Given the description of an element on the screen output the (x, y) to click on. 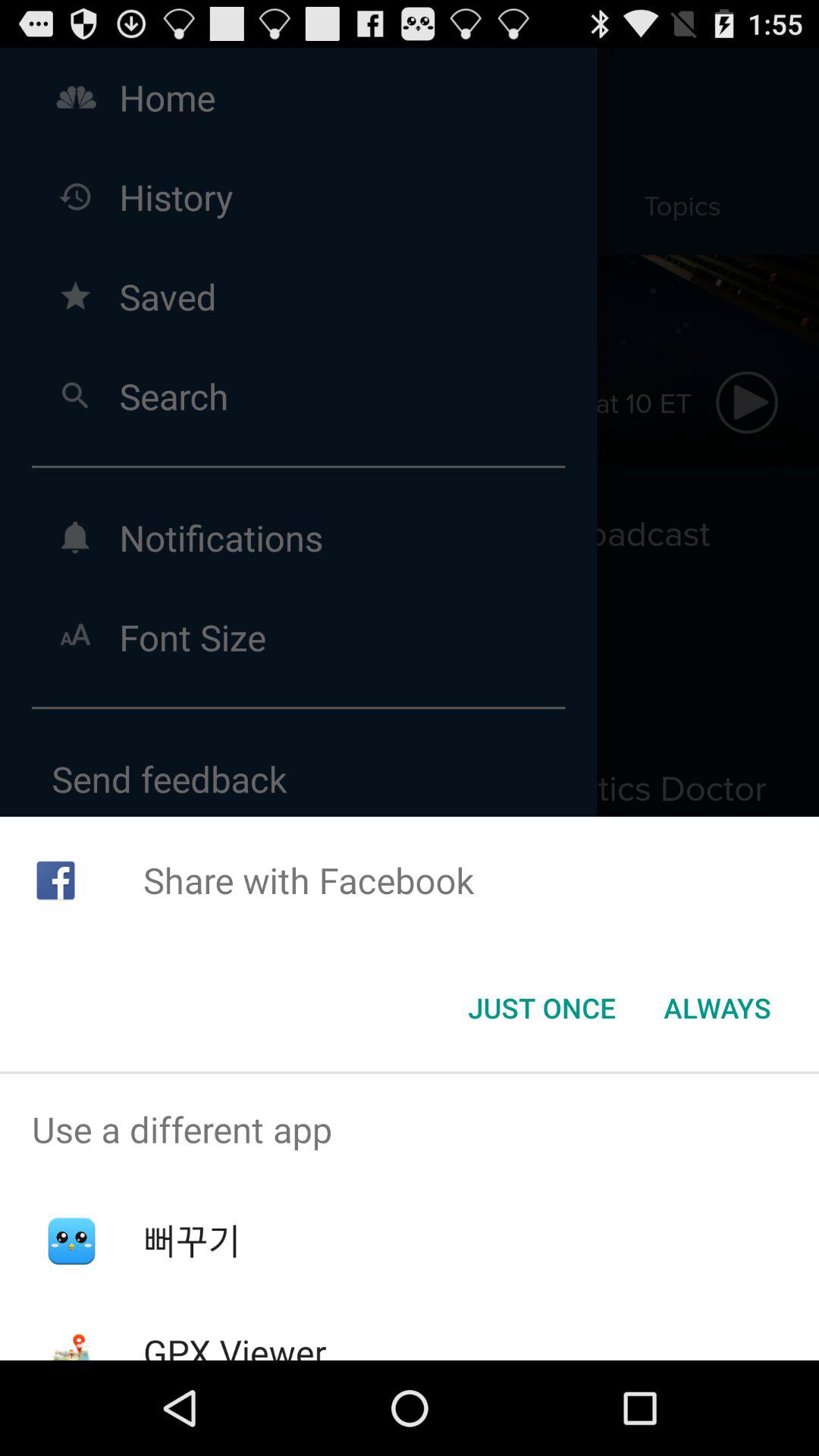
turn on the app below the share with facebook app (541, 1007)
